Given the description of an element on the screen output the (x, y) to click on. 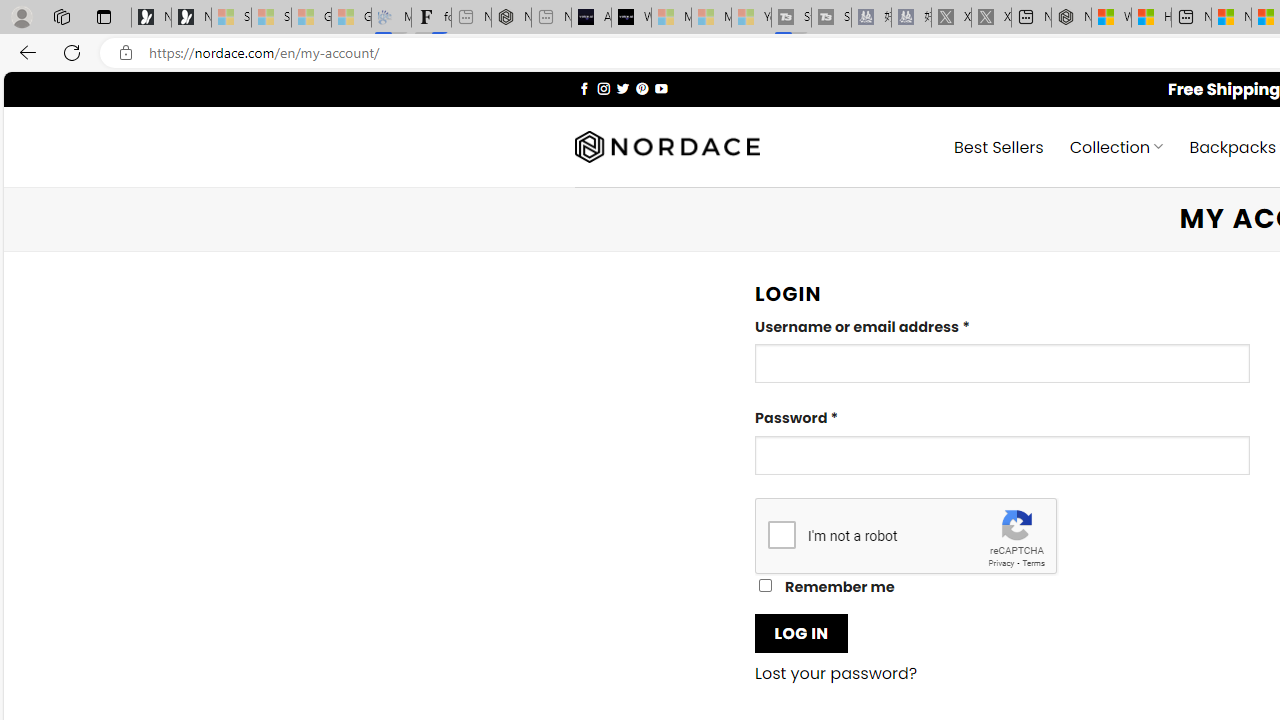
Follow on Twitter (621, 88)
Wildlife - MSN (1111, 17)
X - Sleeping (991, 17)
Follow on Pinterest (642, 88)
 Best Sellers (998, 146)
Back (24, 52)
Refresh (72, 52)
Microsoft Start - Sleeping (711, 17)
Follow on Instagram (603, 88)
